Given the description of an element on the screen output the (x, y) to click on. 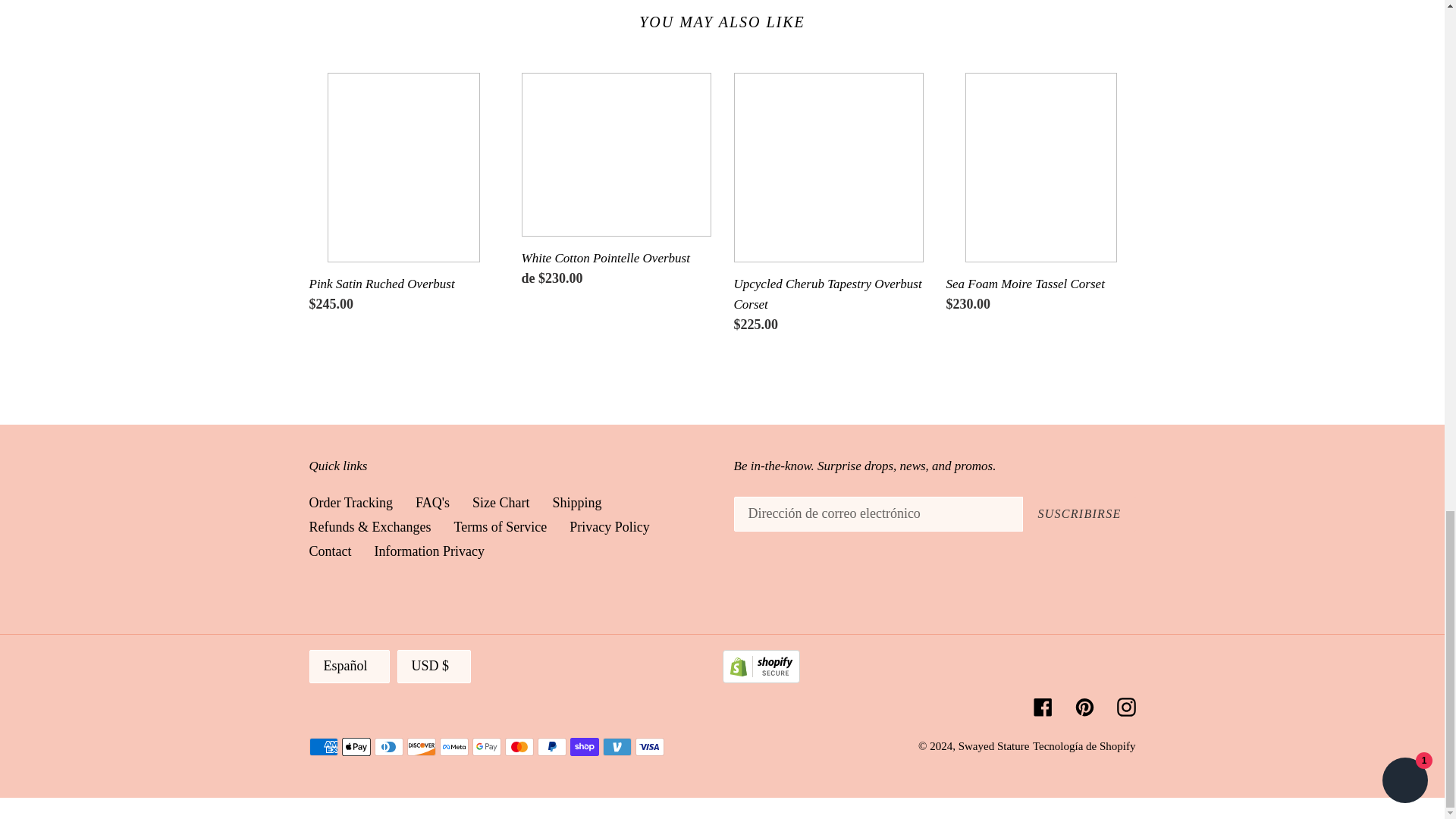
This online store is secured by Shopify (760, 678)
